Given the description of an element on the screen output the (x, y) to click on. 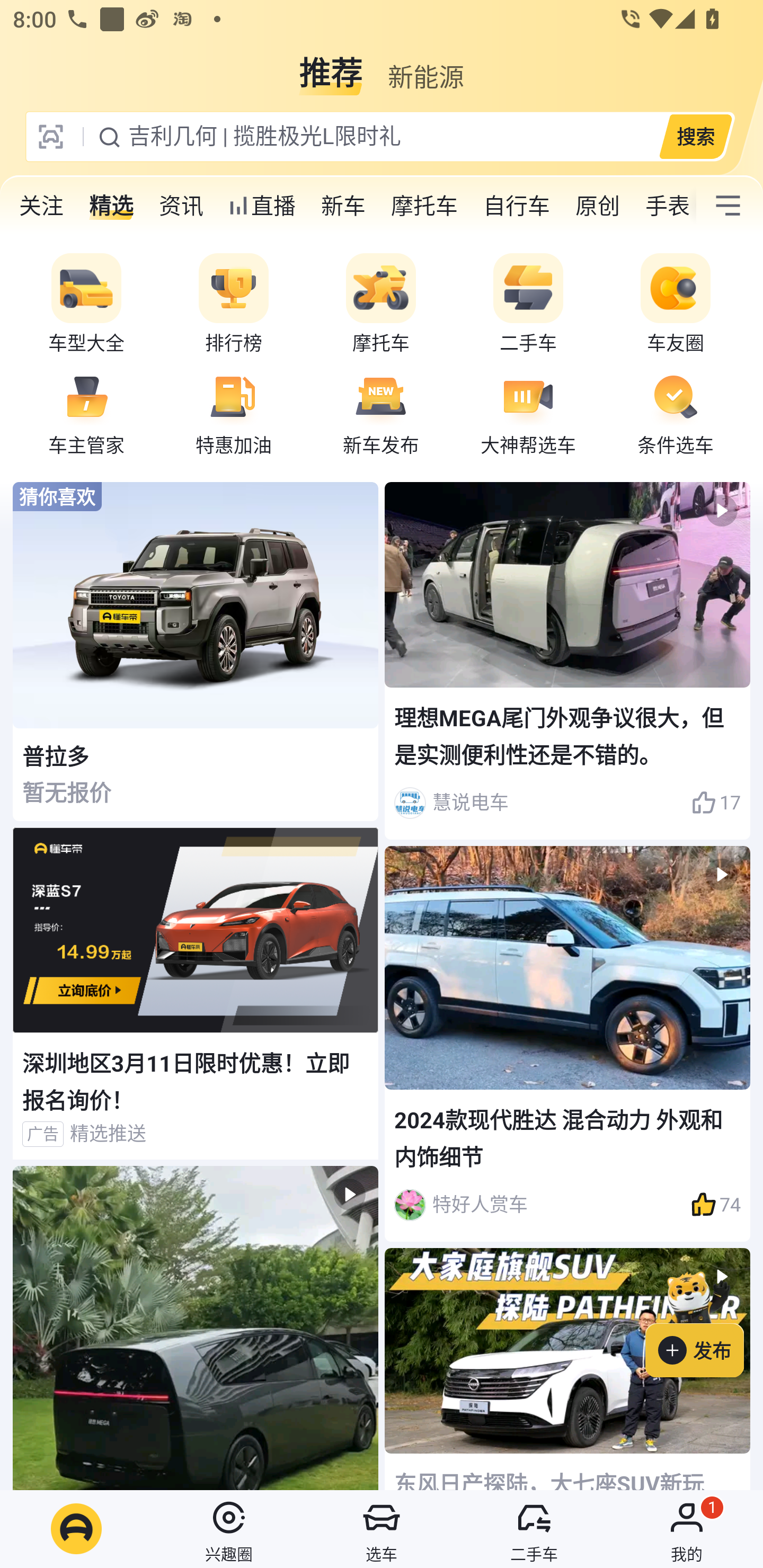
推荐 (330, 65)
新能源 (425, 65)
搜索 (695, 136)
关注 (41, 205)
精选 (111, 205)
资讯 (180, 205)
直播 (261, 205)
新车 (343, 205)
摩托车 (424, 205)
自行车 (516, 205)
原创 (597, 205)
手表 (663, 205)
 (727, 205)
车型大全 (86, 303)
排行榜 (233, 303)
摩托车 (380, 303)
二手车 (528, 303)
车友圈 (675, 303)
车主管家 (86, 412)
特惠加油 (233, 412)
新车发布 (380, 412)
大神帮选车 (528, 412)
条件选车 (675, 412)
猜你喜欢 普拉多 暂无报价 (195, 651)
 理想MEGA尾门外观争议很大，但是实测便利性还是不错的。 慧说电车 17 (567, 659)
17 (715, 802)
深圳地区3月11日限时优惠！立即报名询价！ 广告 精选推送 (195, 993)
 2024款现代胜达 混合动力 外观和内饰细节 特好人赏车 74 (567, 1043)
 (195, 1327)
74 (715, 1204)
 东风日产探陆，大七座SUV新玩家！ (567, 1368)
发布 (704, 1320)
 兴趣圈 (228, 1528)
 选车 (381, 1528)
 二手车 (533, 1528)
 我的 (686, 1528)
